Given the description of an element on the screen output the (x, y) to click on. 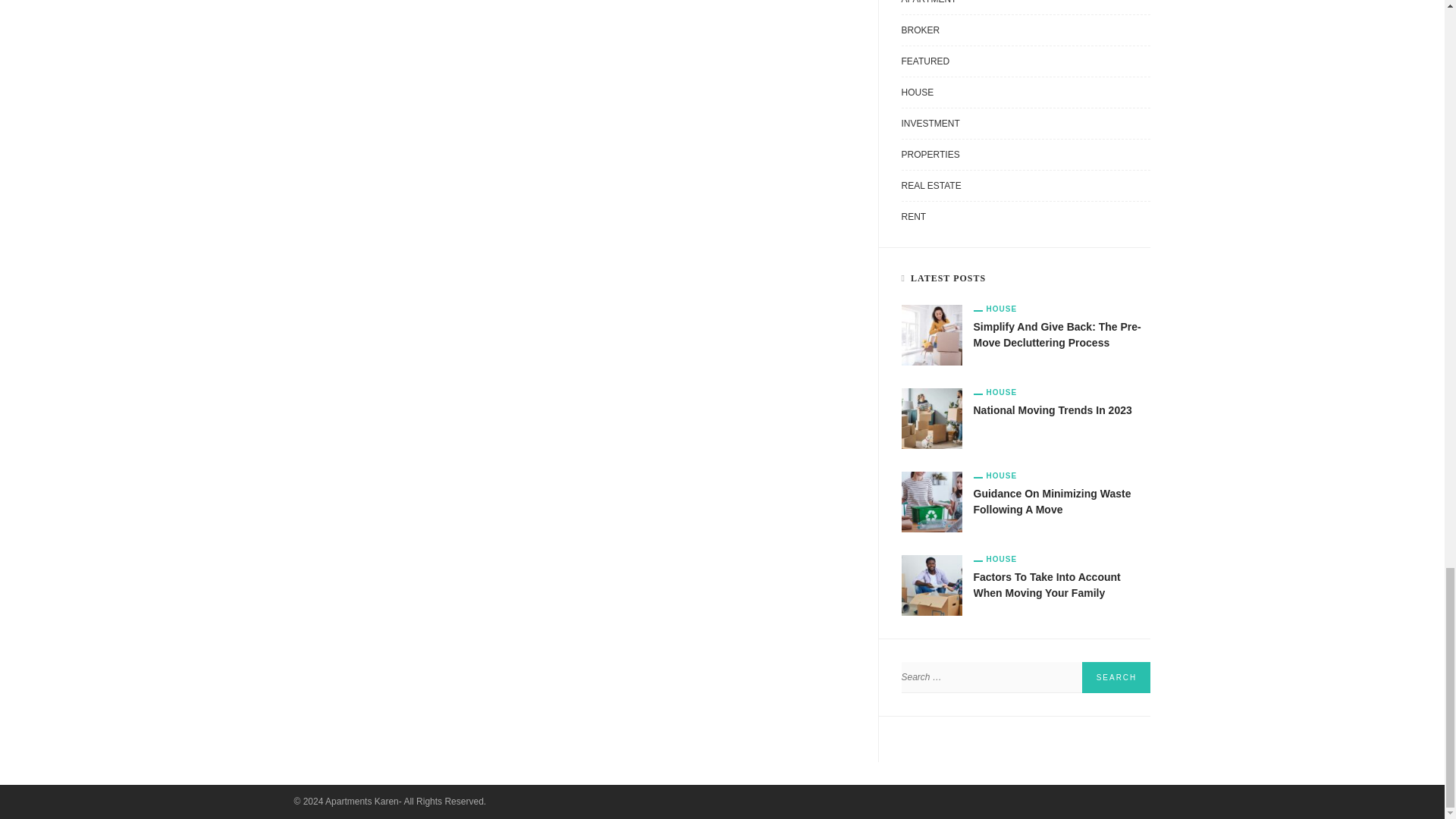
Search (1115, 676)
Simplify and Give Back: The Pre-Move Decluttering Process (1057, 334)
House (995, 308)
National Moving Trends In 2023 (930, 417)
Search (1115, 676)
Simplify and Give Back: The Pre-Move Decluttering Process (930, 334)
